Given the description of an element on the screen output the (x, y) to click on. 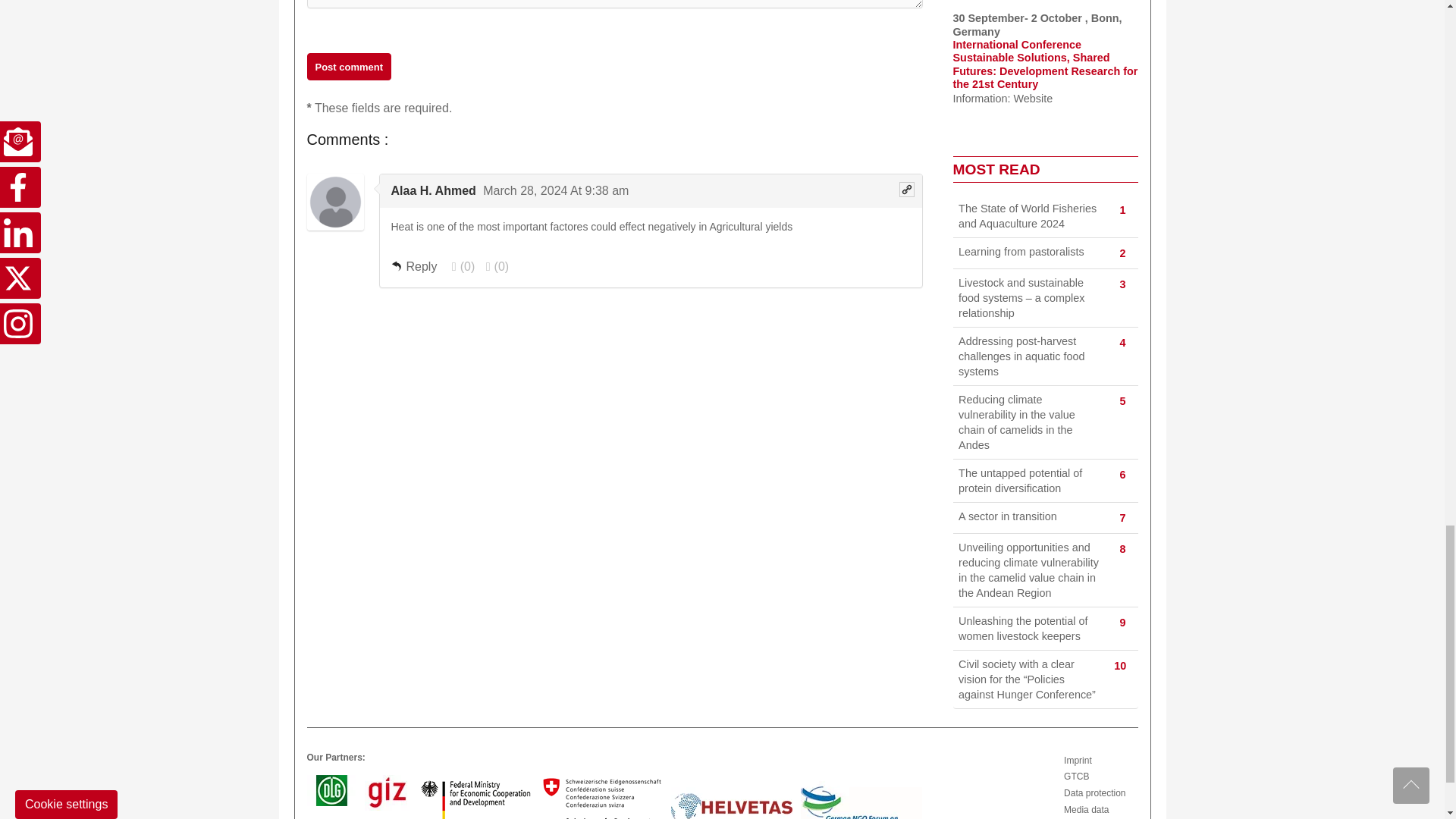
Post comment (348, 66)
